Given the description of an element on the screen output the (x, y) to click on. 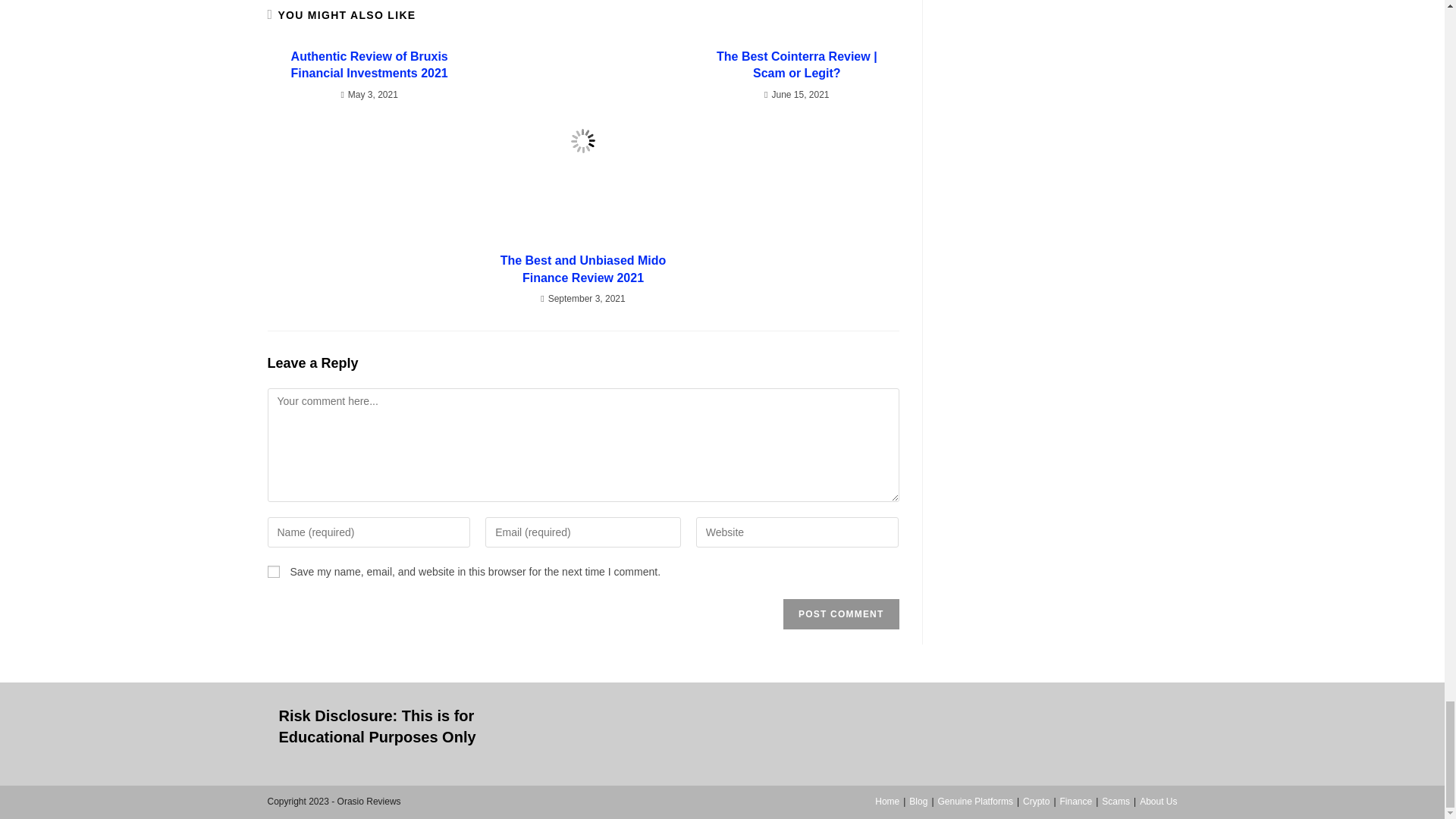
Post Comment (840, 613)
yes (272, 571)
